Given the description of an element on the screen output the (x, y) to click on. 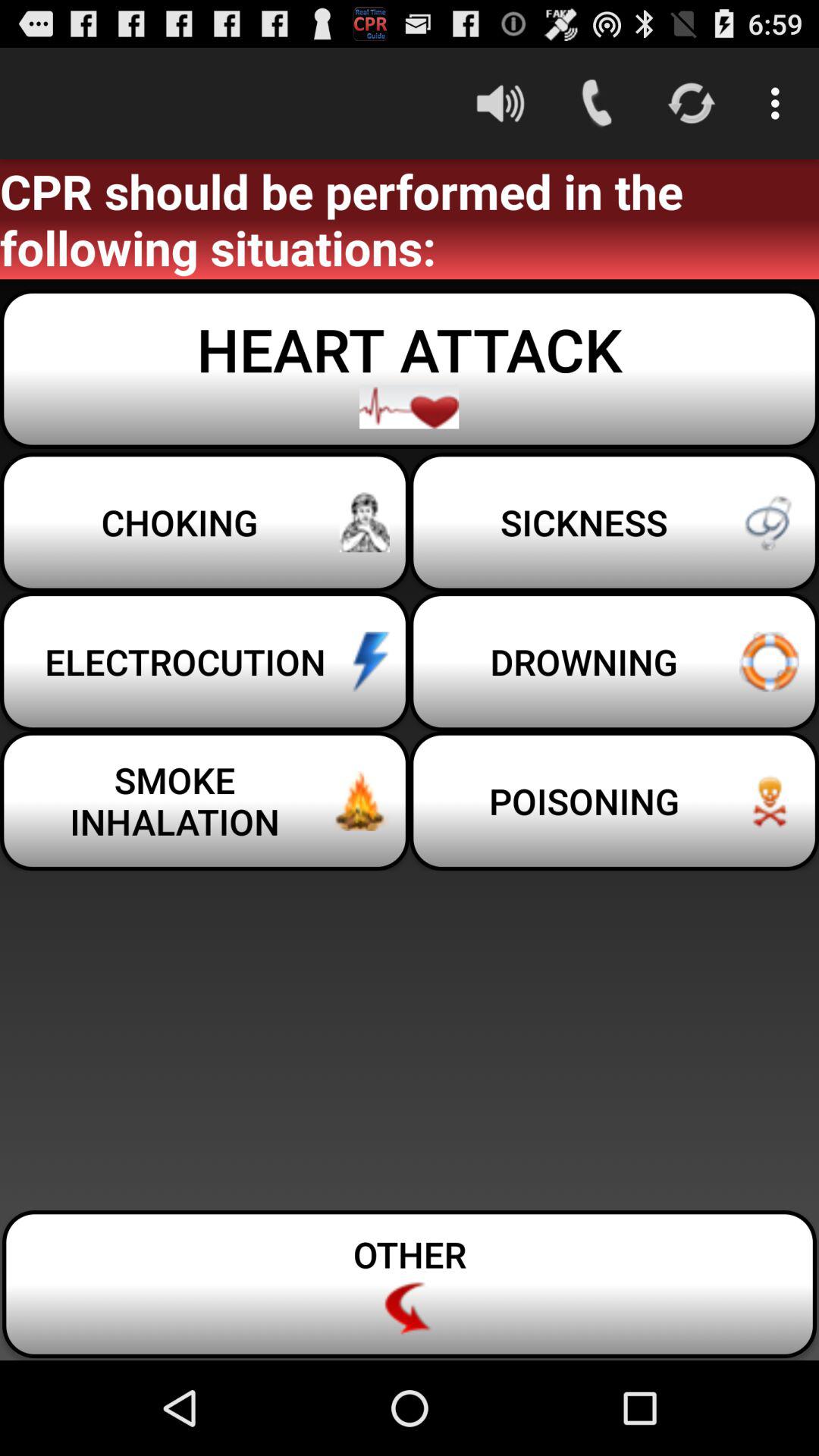
turn on button below the electrocution (204, 800)
